Given the description of an element on the screen output the (x, y) to click on. 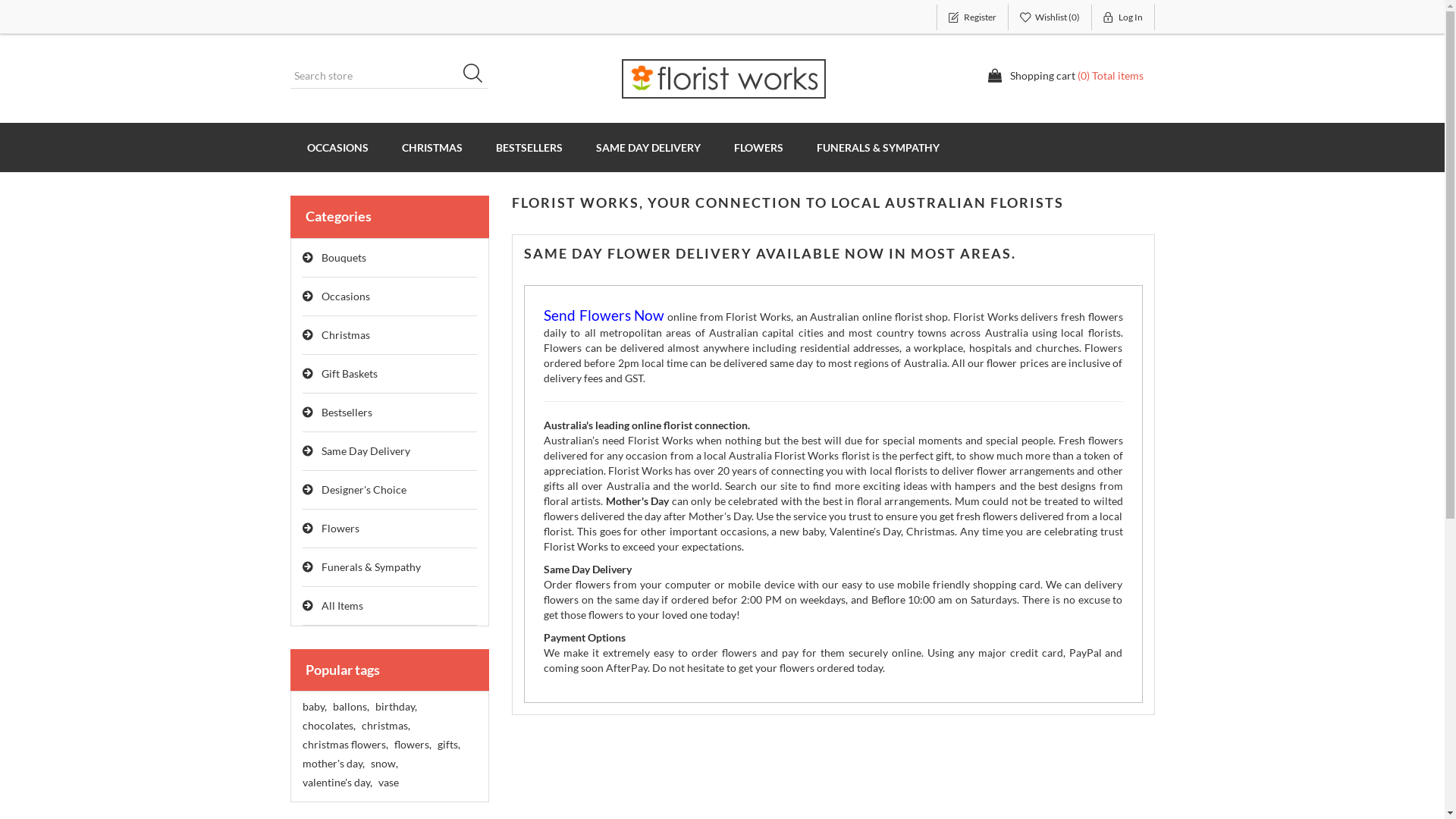
Log In Element type: text (1123, 17)
FUNERALS & SYMPATHY Element type: text (877, 147)
baby, Element type: text (313, 706)
Shopping cart (0) Total items Element type: text (1065, 75)
birthday, Element type: text (395, 706)
All Items Element type: text (388, 605)
SAME DAY DELIVERY Element type: text (648, 147)
snow, Element type: text (383, 763)
BESTSELLERS Element type: text (529, 147)
Designer's Choice Element type: text (388, 489)
christmas flowers, Element type: text (344, 744)
Register Element type: text (971, 17)
Funerals & Sympathy Element type: text (388, 567)
flowers, Element type: text (412, 744)
Flowers Element type: text (388, 528)
gifts, Element type: text (447, 744)
Wishlist (0) Element type: text (1050, 17)
Christmas Element type: text (388, 335)
ballons, Element type: text (350, 706)
Same Day Delivery Element type: text (388, 451)
FLOWERS Element type: text (758, 147)
OCCASIONS Element type: text (336, 147)
valentine's day, Element type: text (336, 782)
Send Flowers Now Element type: text (603, 316)
CHRISTMAS Element type: text (432, 147)
Occasions Element type: text (388, 296)
mother's day, Element type: text (332, 763)
Gift Baskets Element type: text (388, 373)
chocolates, Element type: text (327, 725)
christmas, Element type: text (384, 725)
vase Element type: text (387, 782)
Bouquets Element type: text (388, 257)
Bestsellers Element type: text (388, 412)
